Given the description of an element on the screen output the (x, y) to click on. 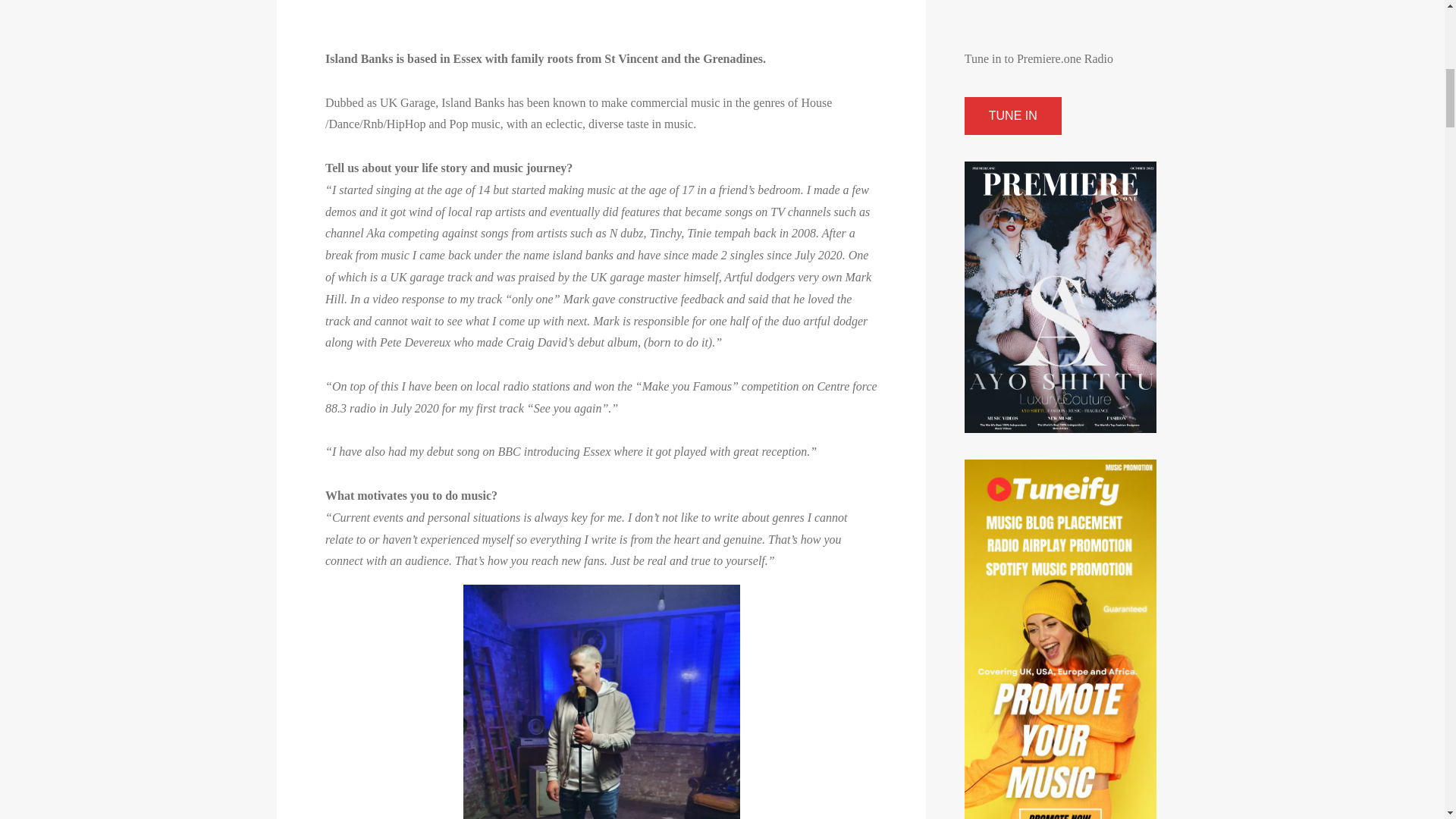
TUNE IN (1012, 116)
